Given the description of an element on the screen output the (x, y) to click on. 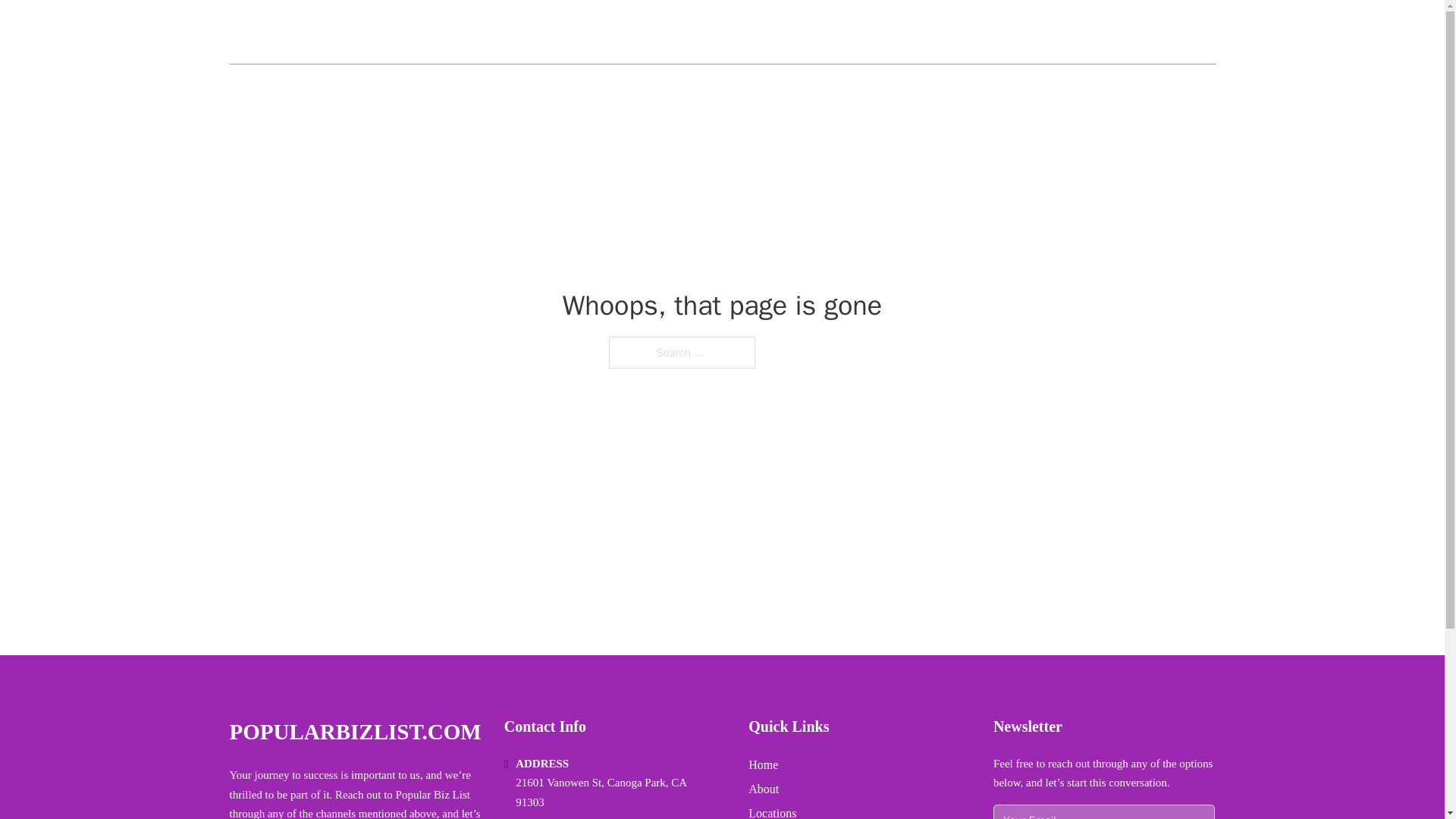
POPULARBIZLIST.COM (367, 31)
About (763, 788)
POPULARBIZLIST.COM (354, 732)
Locations (772, 811)
Home (762, 764)
HOME (1032, 31)
LOCATIONS (1105, 31)
